Given the description of an element on the screen output the (x, y) to click on. 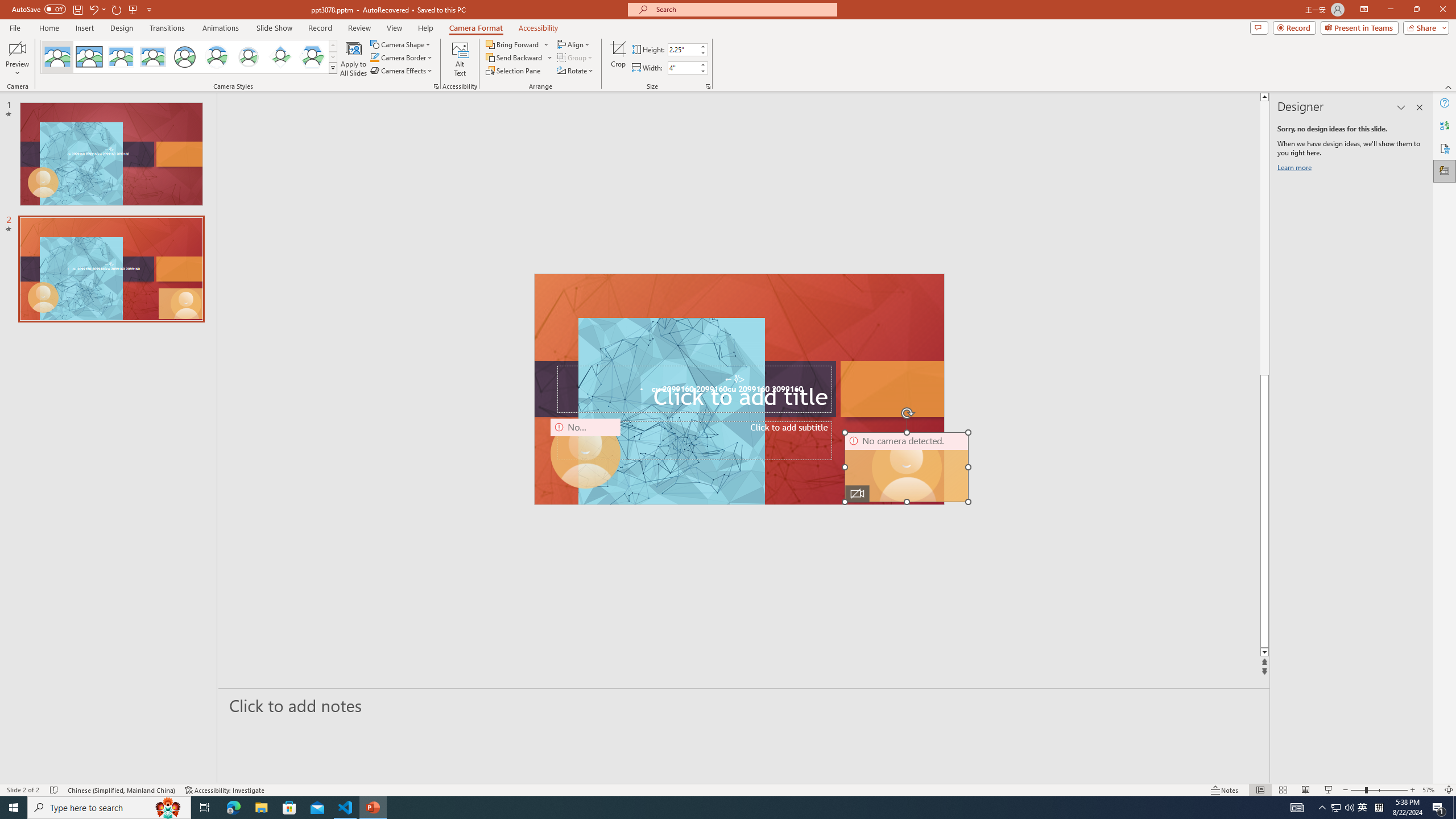
Selection Pane... (513, 69)
Camera Border (401, 56)
Soft Edge Rectangle (152, 56)
Cameo Height (682, 49)
Bring Forward (517, 44)
Soft Edge Circle (248, 56)
No Style (57, 56)
